Given the description of an element on the screen output the (x, y) to click on. 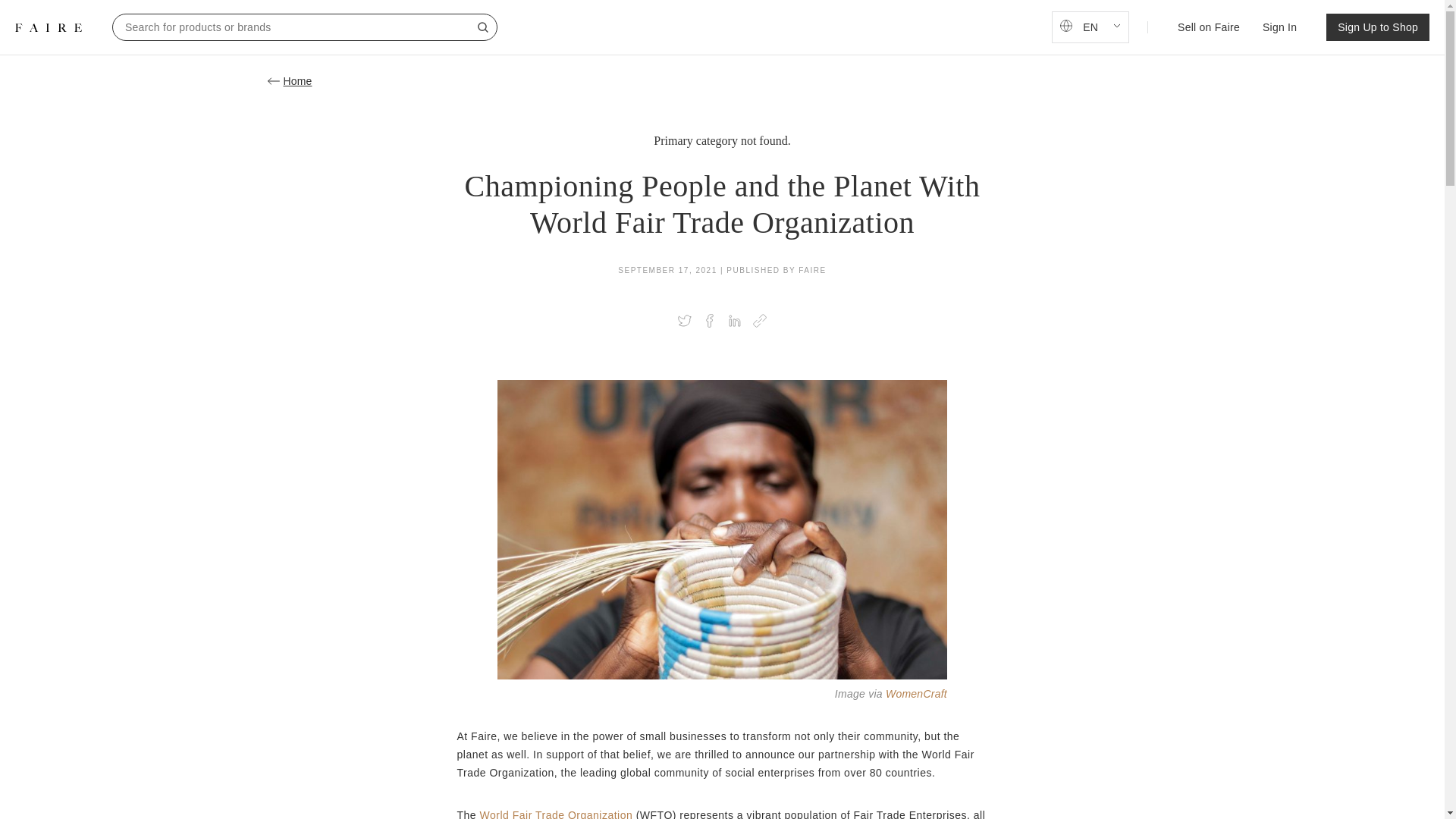
WomenCraft (916, 693)
Home (721, 80)
FAIRE (47, 26)
World Fair Trade Organization (556, 814)
Sign Up to Shop (1378, 27)
Sell on Faire (1208, 27)
Sign In (1279, 27)
